Given the description of an element on the screen output the (x, y) to click on. 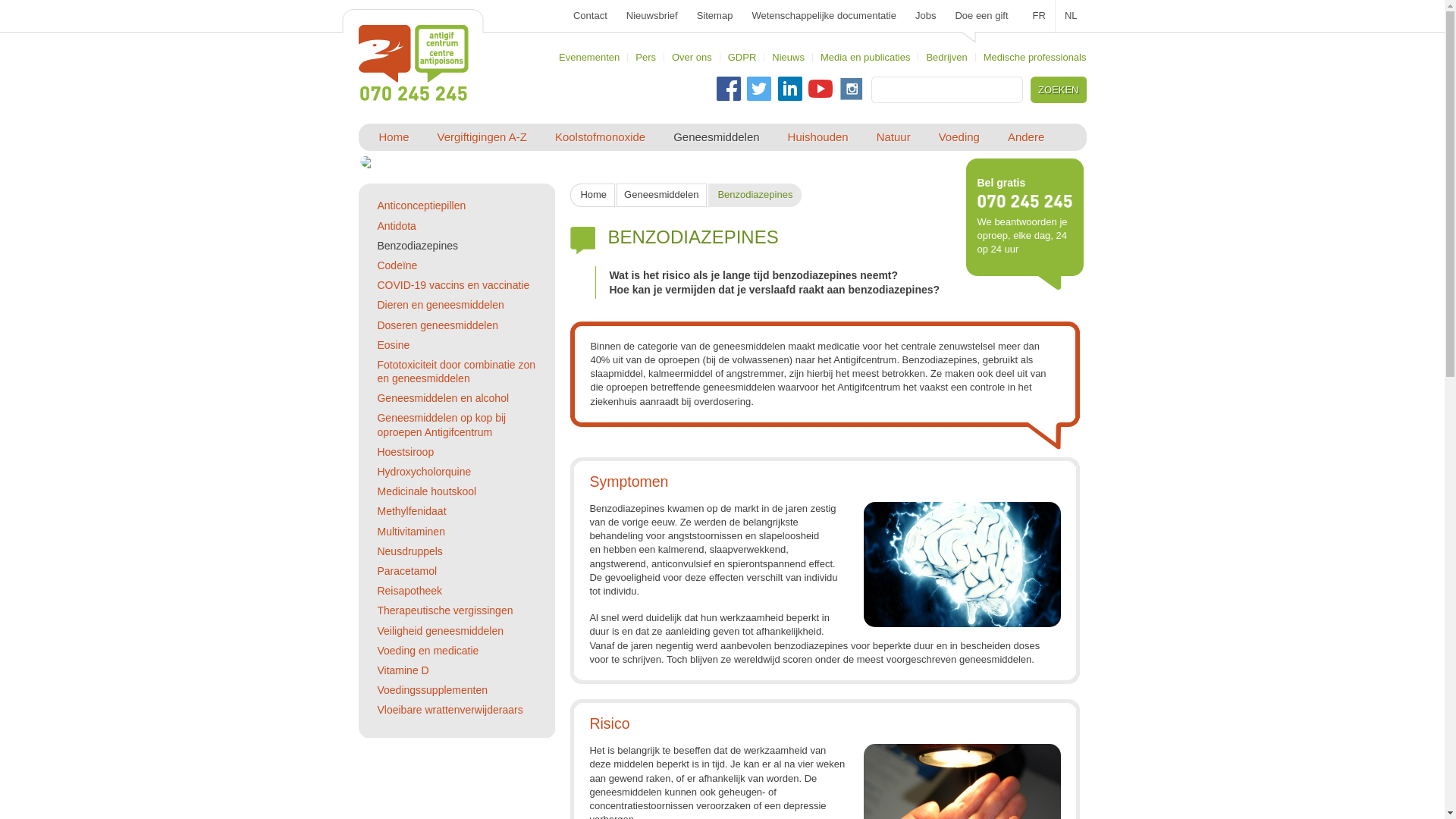
Geneesmiddelen Element type: text (661, 195)
Reisapotheek Element type: text (409, 590)
Medicinale houtskool Element type: text (426, 491)
Neusdruppels Element type: text (409, 551)
Twitter Element type: hover (758, 88)
Antidota Element type: text (395, 225)
Geneesmiddelen Element type: text (716, 136)
Home Element type: text (592, 195)
Instagram Element type: hover (851, 88)
Home Element type: text (394, 136)
Vloeibare wrattenverwijderaars Element type: text (449, 709)
Andere Element type: text (1025, 136)
Jobs Element type: text (925, 15)
Over ons Element type: text (691, 56)
Doe een gift Element type: text (980, 15)
Contact Element type: text (590, 15)
Geneesmiddelen en alcohol Element type: text (442, 398)
Geneesmiddelen op kop bij oproepen Antigifcentrum Element type: text (440, 424)
Belgisch Antigifcentrum Element type: hover (412, 62)
Sitemap Element type: text (714, 15)
Facebook Element type: hover (728, 88)
Medische professionals Element type: text (1034, 56)
Bedrijven Element type: text (945, 56)
Wat is het risico als je lange tijd benzodiazepines neemt? Element type: text (752, 275)
LinkedIn Element type: hover (790, 88)
Eosine Element type: text (392, 344)
Hoestsiroop Element type: text (404, 451)
FR Element type: text (1039, 15)
Voeding en medicatie Element type: text (427, 650)
Home Element type: hover (412, 93)
Natuur Element type: text (893, 136)
Vitamine D Element type: text (402, 670)
Nieuws Element type: text (787, 56)
Anticonceptiepillen Element type: text (420, 205)
Therapeutische vergissingen Element type: text (444, 610)
Pers Element type: text (645, 56)
Veiligheid geneesmiddelen Element type: text (439, 630)
Evenementen Element type: text (588, 56)
Nieuwsbrief Element type: text (651, 15)
Methylfenidaat Element type: text (410, 511)
Media en publicaties Element type: text (865, 56)
YouTube Element type: hover (820, 88)
Paracetamol Element type: text (406, 570)
Voedingssupplementen Element type: text (431, 690)
Wetenschappelijke documentatie Element type: text (823, 15)
Zoeken Element type: text (1060, 89)
Vergiftigingen A-Z Element type: text (482, 136)
NL Element type: text (1070, 15)
COVID-19 vaccins en vaccinatie Element type: text (452, 285)
Koolstofmonoxide Element type: text (600, 136)
Benzodiazepines Element type: text (416, 245)
Fototoxiciteit door combinatie zon en geneesmiddelen Element type: text (455, 371)
Huishouden Element type: text (817, 136)
GDPR Element type: text (742, 56)
Hydroxycholorquine Element type: text (423, 471)
Doseren geneesmiddelen Element type: text (437, 324)
Dieren en geneesmiddelen Element type: text (439, 304)
Voeding Element type: text (958, 136)
Multivitaminen Element type: text (410, 531)
